Given the description of an element on the screen output the (x, y) to click on. 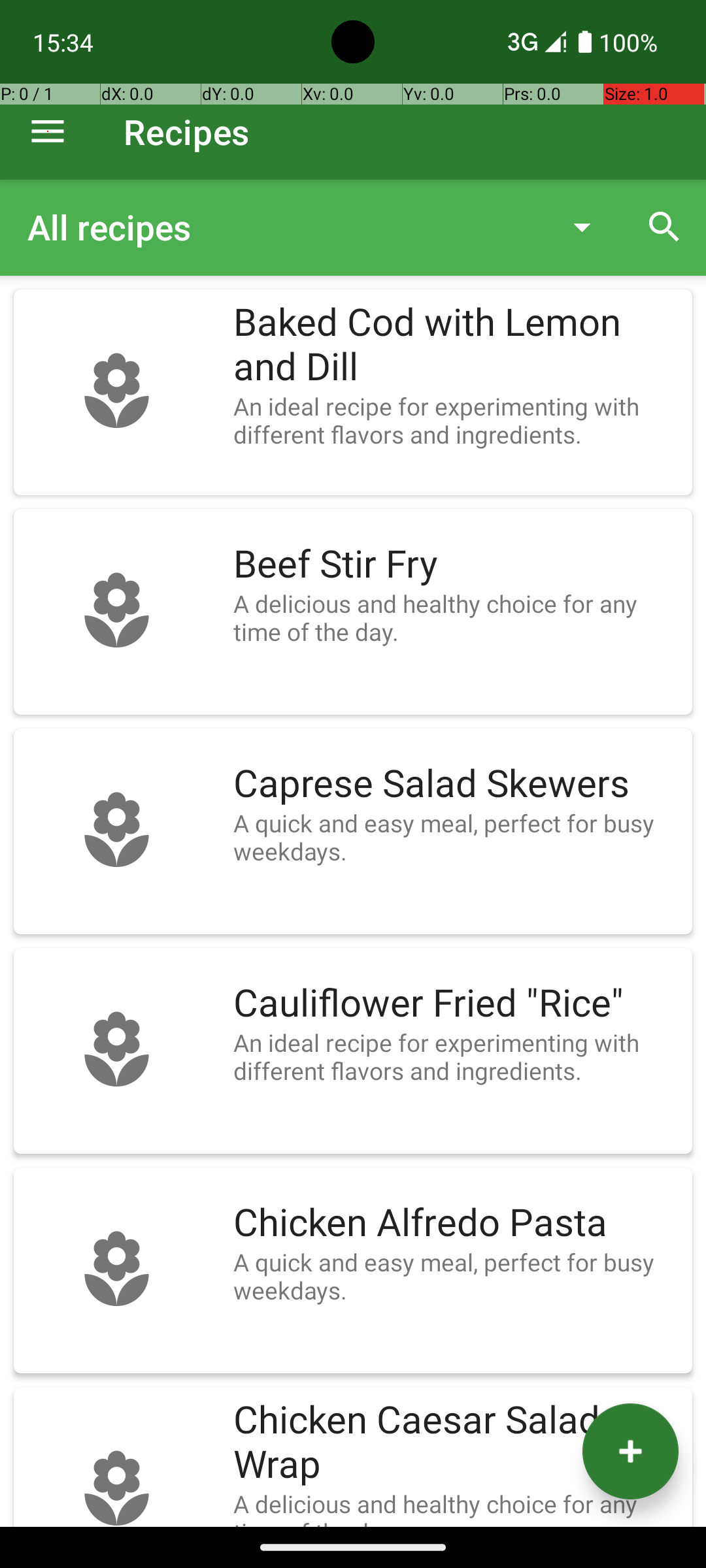
Cauliflower Fried "Rice" Element type: android.widget.TextView (455, 1003)
Chicken Caesar Salad Wrap Element type: android.widget.TextView (455, 1442)
